Given the description of an element on the screen output the (x, y) to click on. 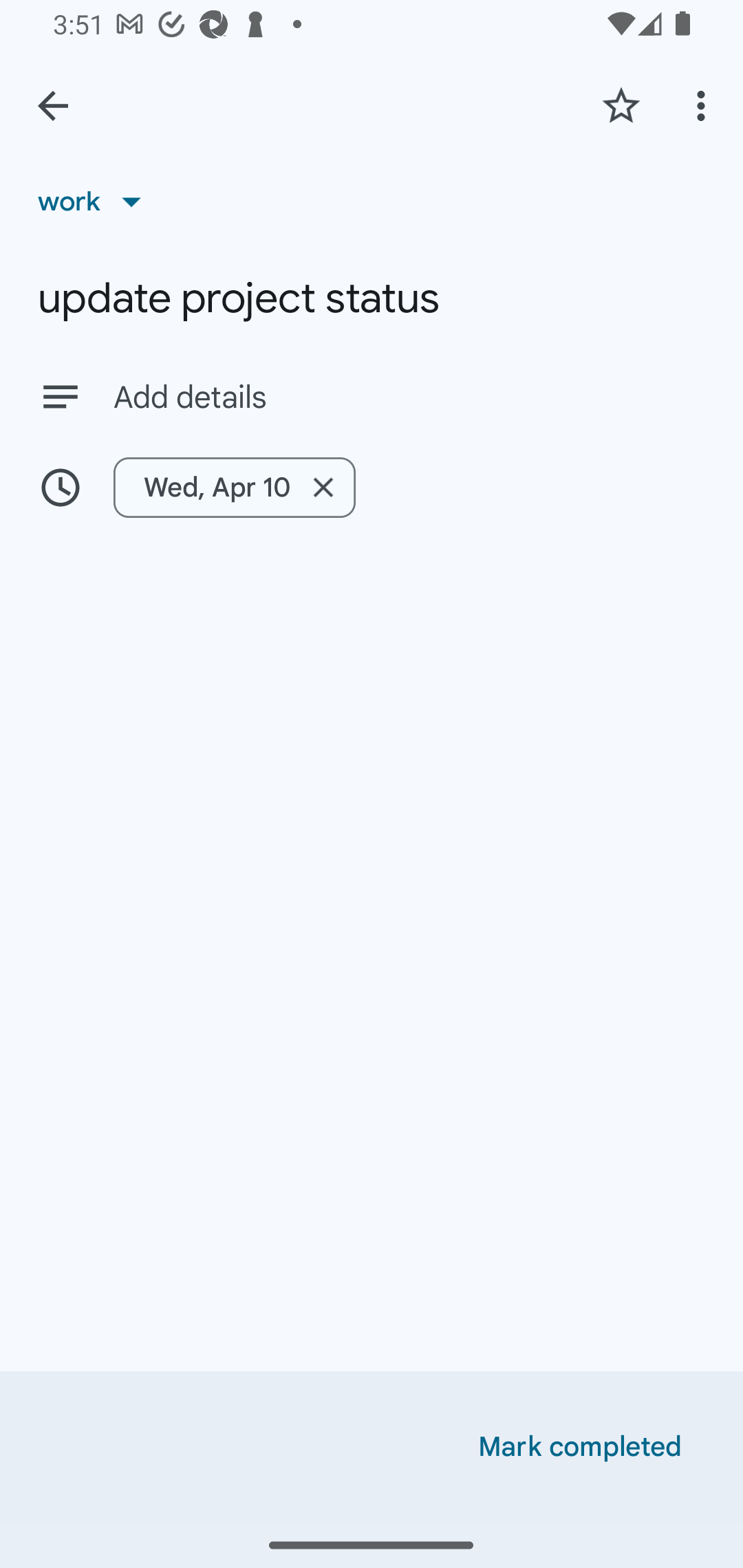
Back (53, 105)
Add star (620, 105)
More options (704, 105)
work List, work selected, 1 of 19 (95, 201)
update project status (371, 298)
Add details (371, 396)
Add details (409, 397)
Wed, Apr 10 Remove date/time (371, 487)
Wed, Apr 10 Remove date/time (234, 487)
Mark completed (580, 1446)
